Given the description of an element on the screen output the (x, y) to click on. 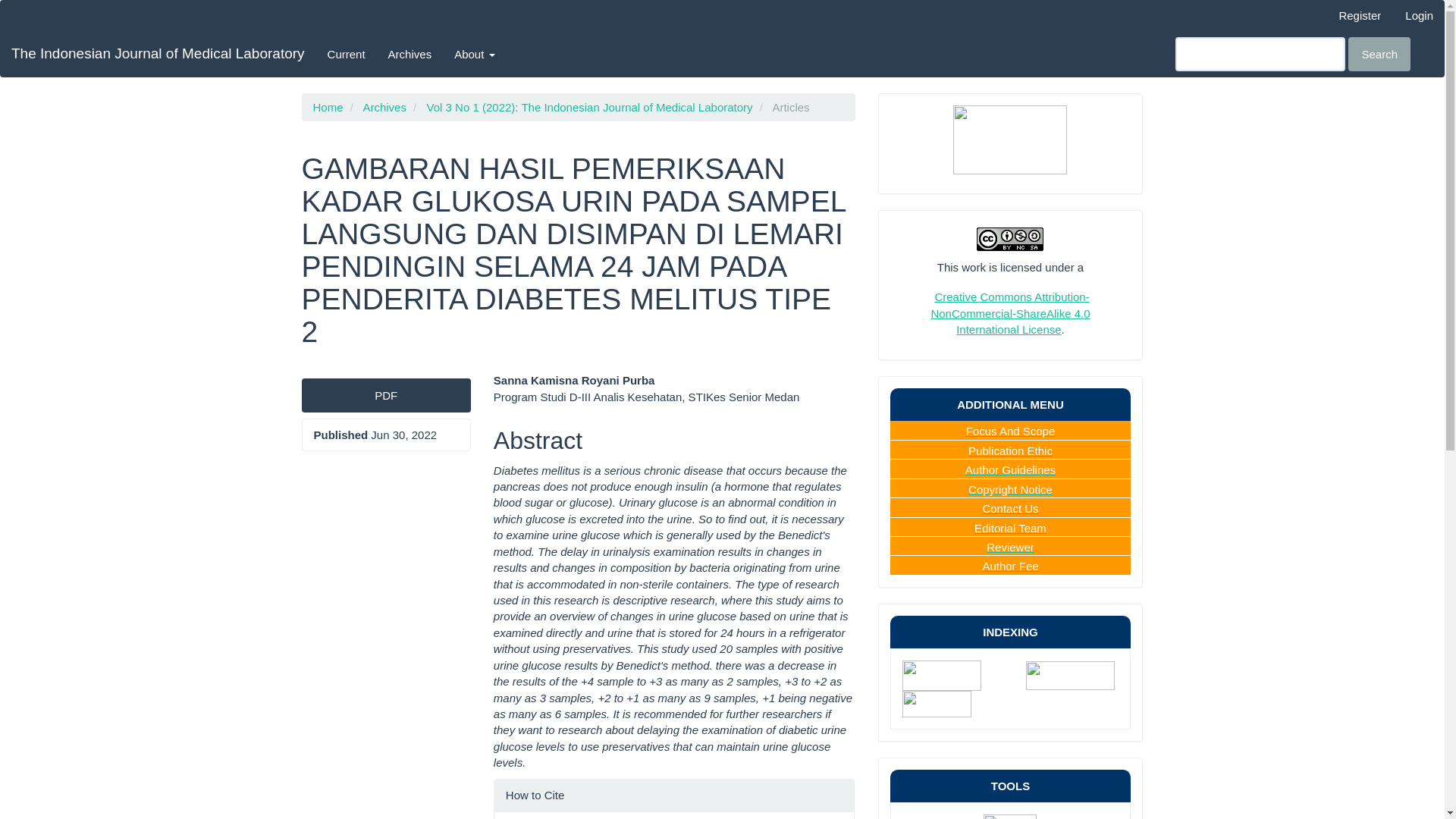
Archives (410, 53)
Current (346, 53)
PDF (385, 395)
Contact Us (1009, 508)
Template  (1010, 689)
Template  (982, 702)
Register (1358, 15)
Publication Ethic (1010, 450)
Template  (956, 674)
Search (1379, 53)
Author Guidelines (1010, 469)
Archives (384, 106)
Focus And Scope (1010, 431)
The Indonesian Journal of Medical Laboratory (157, 53)
